Given the description of an element on the screen output the (x, y) to click on. 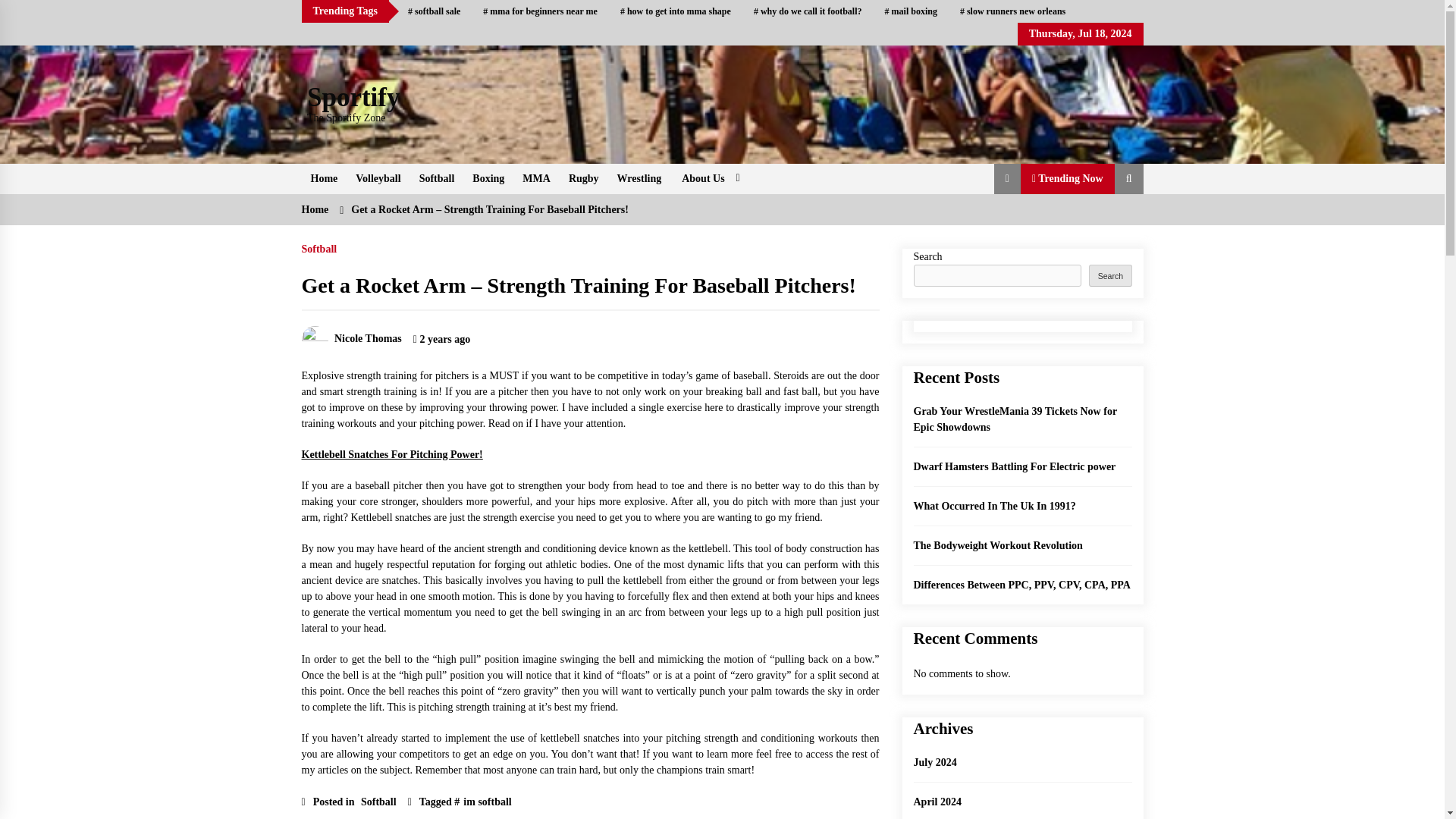
softball sale (433, 11)
Wrestling (639, 178)
Volleyball (377, 178)
Sportify (353, 97)
Home (324, 178)
MMA (536, 178)
Boxing (488, 178)
why do we call it football? (807, 11)
slow runners new orleans (1013, 11)
how to get into mma shape (675, 11)
About Us (707, 178)
mma for beginners near me (539, 11)
Softball (437, 178)
mail boxing (911, 11)
Rugby (583, 178)
